Given the description of an element on the screen output the (x, y) to click on. 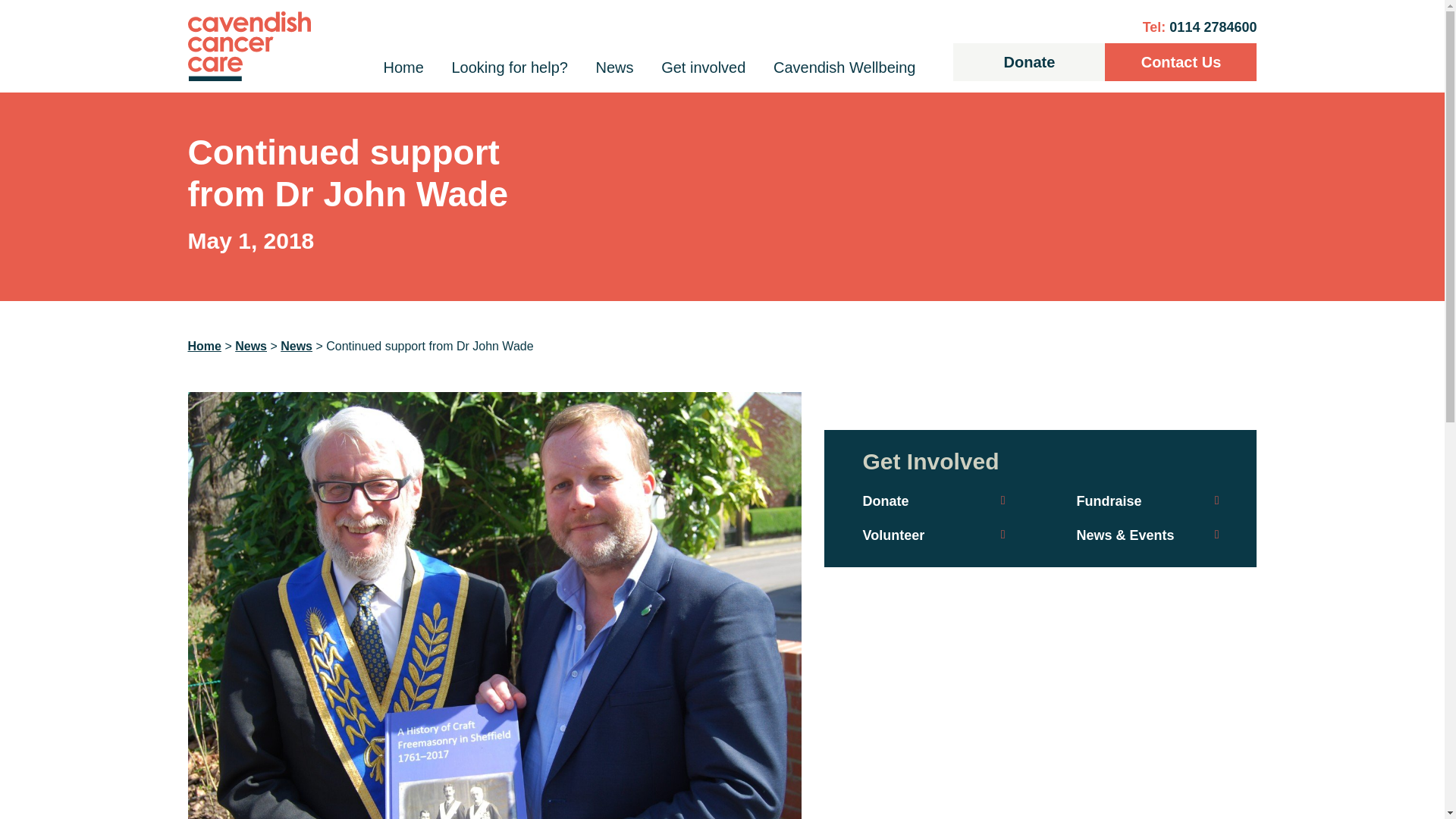
Home (403, 67)
Go to the News category archives. (297, 345)
Go to Cavendish Cancer Care. (204, 345)
Cavendish Wellbeing (844, 67)
Get involved (703, 67)
Go to News. (250, 345)
Donate (1029, 62)
Contact Us (1180, 62)
News (614, 67)
Tel: 0114 2784600 (1199, 27)
Looking for help? (509, 67)
